Given the description of an element on the screen output the (x, y) to click on. 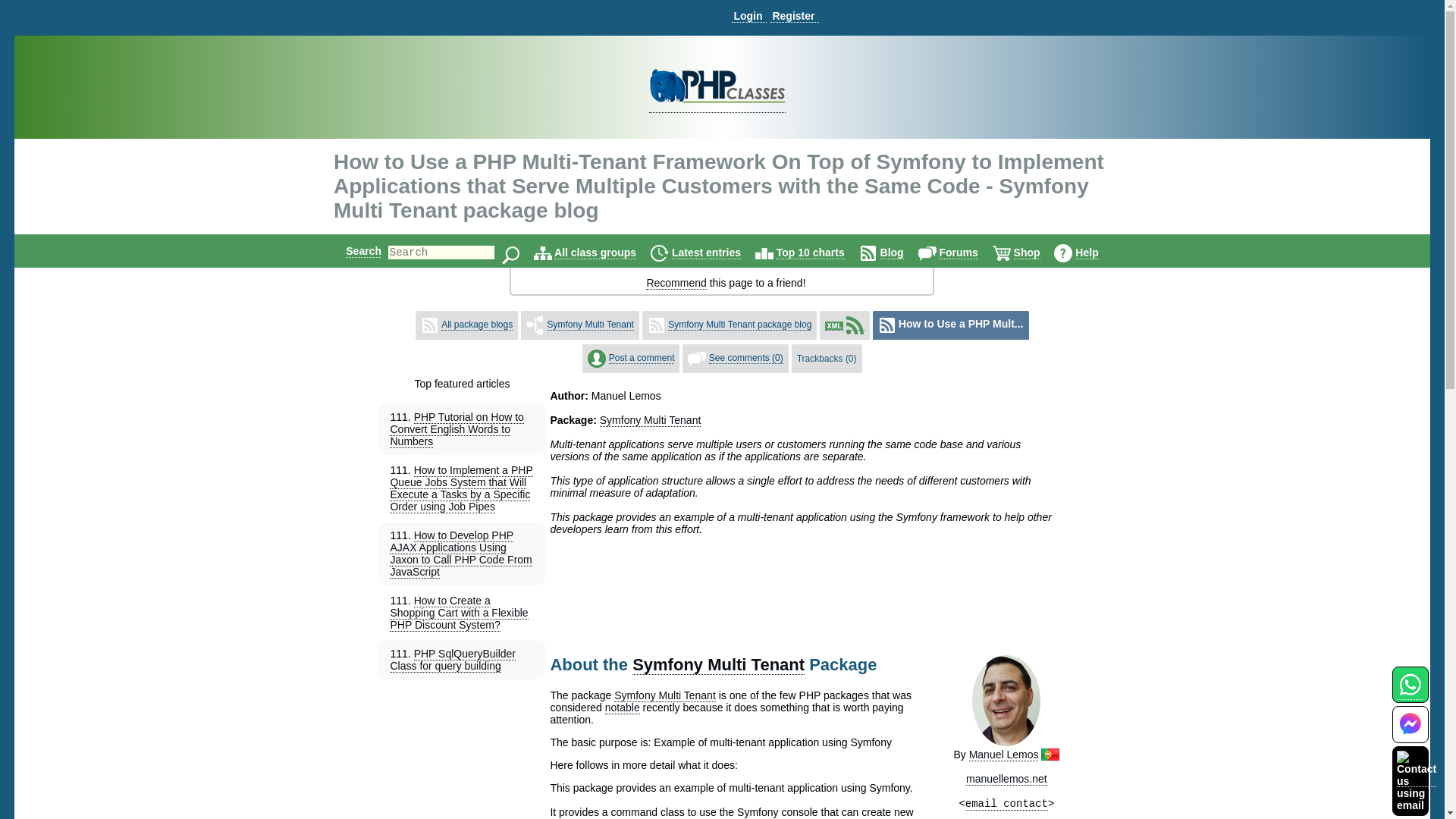
Shop (1027, 252)
Login (748, 15)
Contact us using email (1415, 780)
Symfony Multi Tenant (590, 324)
All class groups (595, 252)
Latest entries (706, 252)
Contact us using WhatsApp (1409, 693)
Symfony Multi Tenant package blog (739, 324)
Portugal (1050, 754)
Recommend (676, 282)
Register (794, 15)
Symfony Multi Tenant (718, 664)
Manuel Lemos (1004, 754)
